Given the description of an element on the screen output the (x, y) to click on. 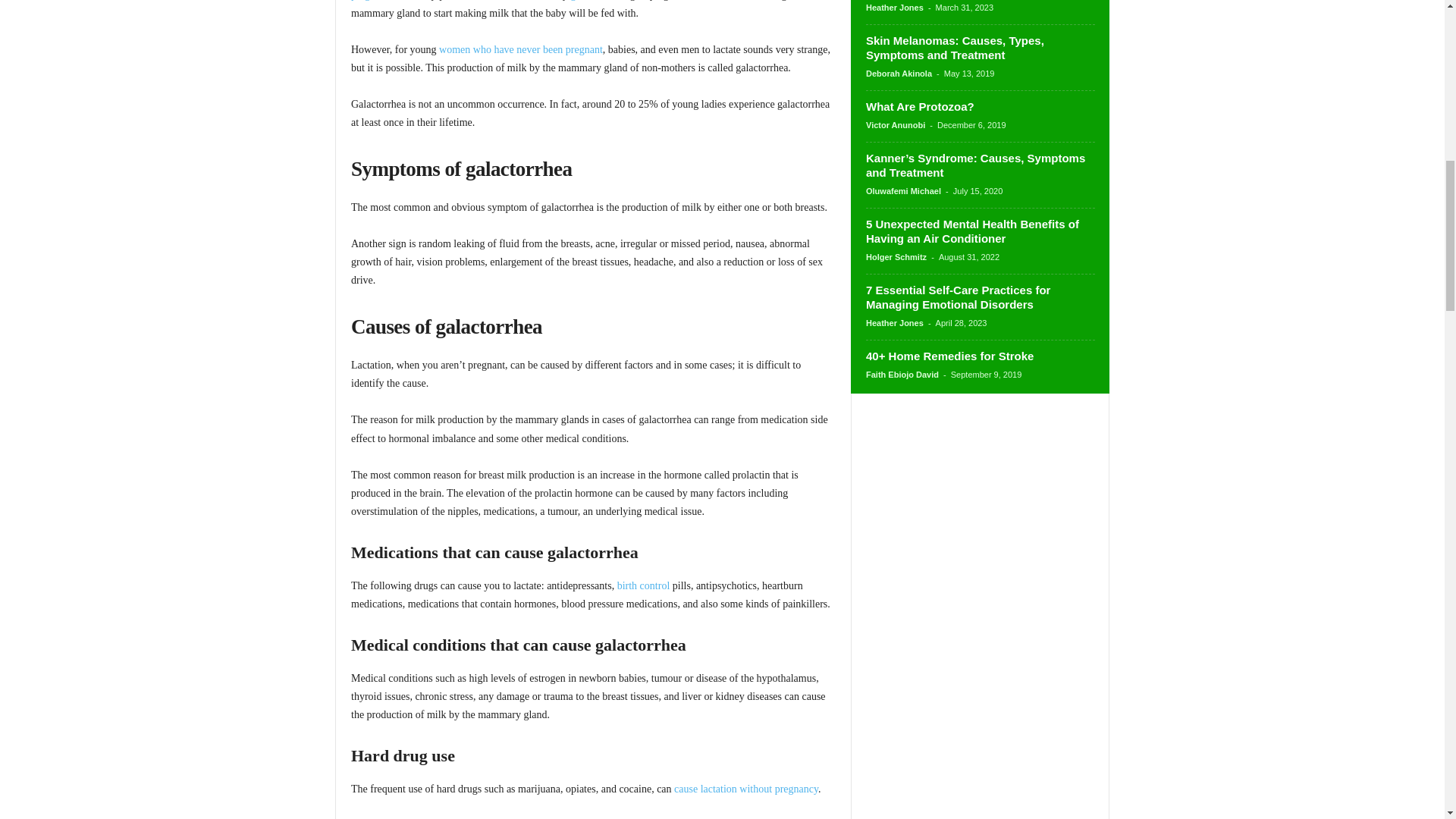
birth control (643, 585)
cause lactation without pregnancy (746, 788)
women who have never been pregnant (520, 49)
gives birth (592, 0)
